Given the description of an element on the screen output the (x, y) to click on. 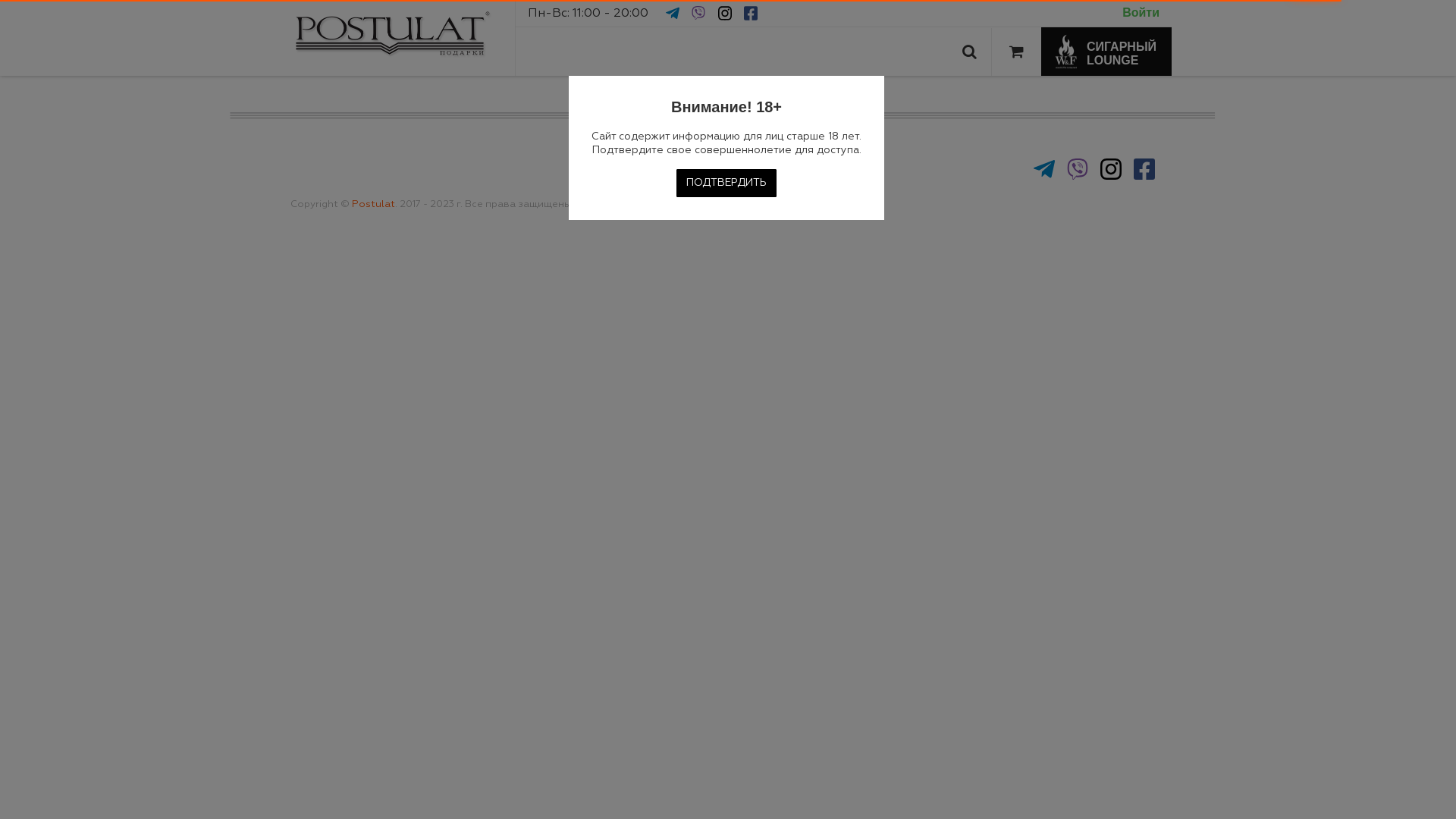
Postulat Element type: text (373, 204)
